Given the description of an element on the screen output the (x, y) to click on. 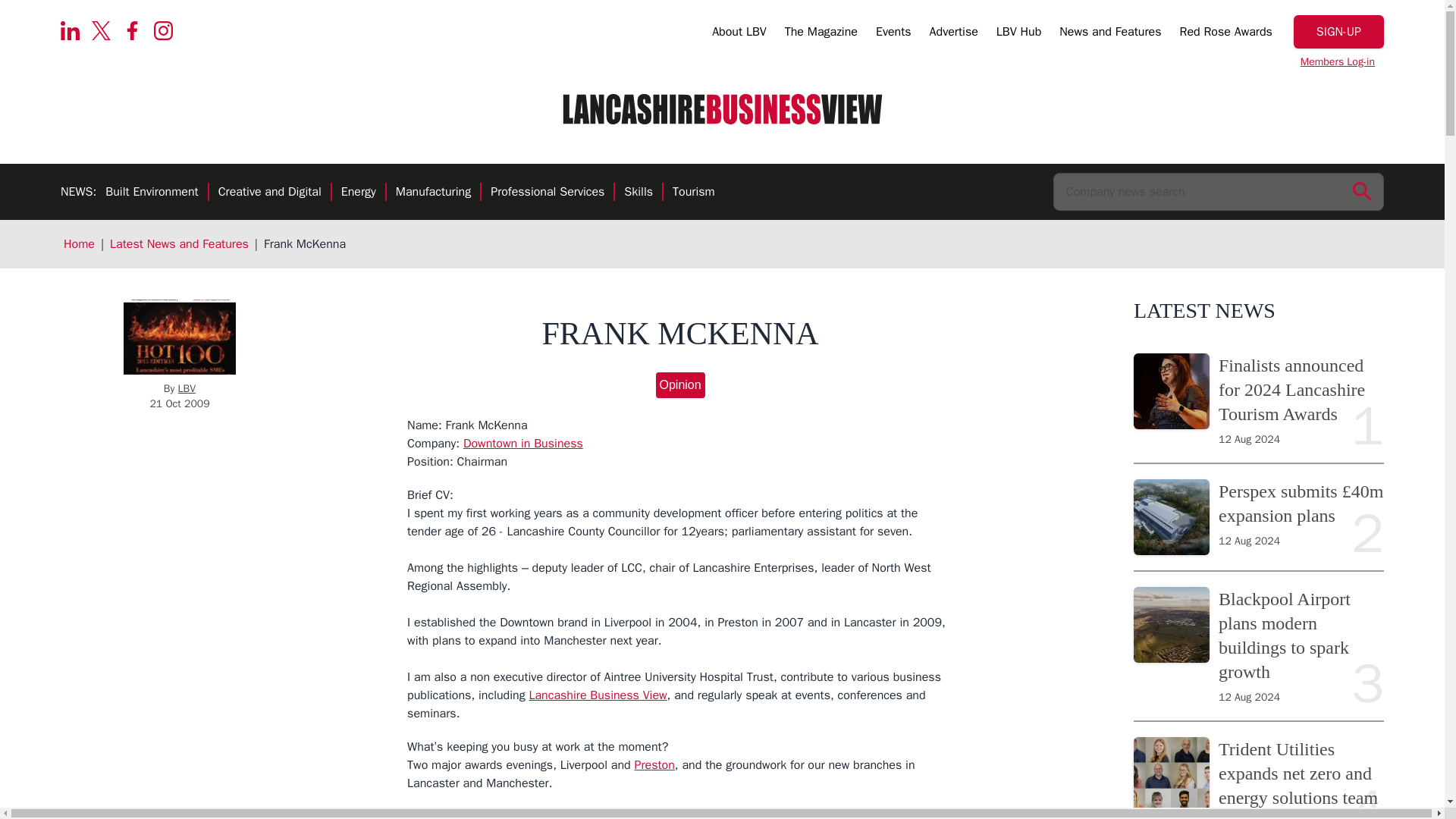
Events (893, 34)
Energy (357, 192)
Red Rose Awards (1225, 34)
Professional Services (547, 192)
Advertise (954, 34)
SIGN-UP (1339, 31)
Manufacturing (433, 192)
LBV Hub (1018, 34)
Built Environment (151, 192)
News and Features (1109, 34)
